Given the description of an element on the screen output the (x, y) to click on. 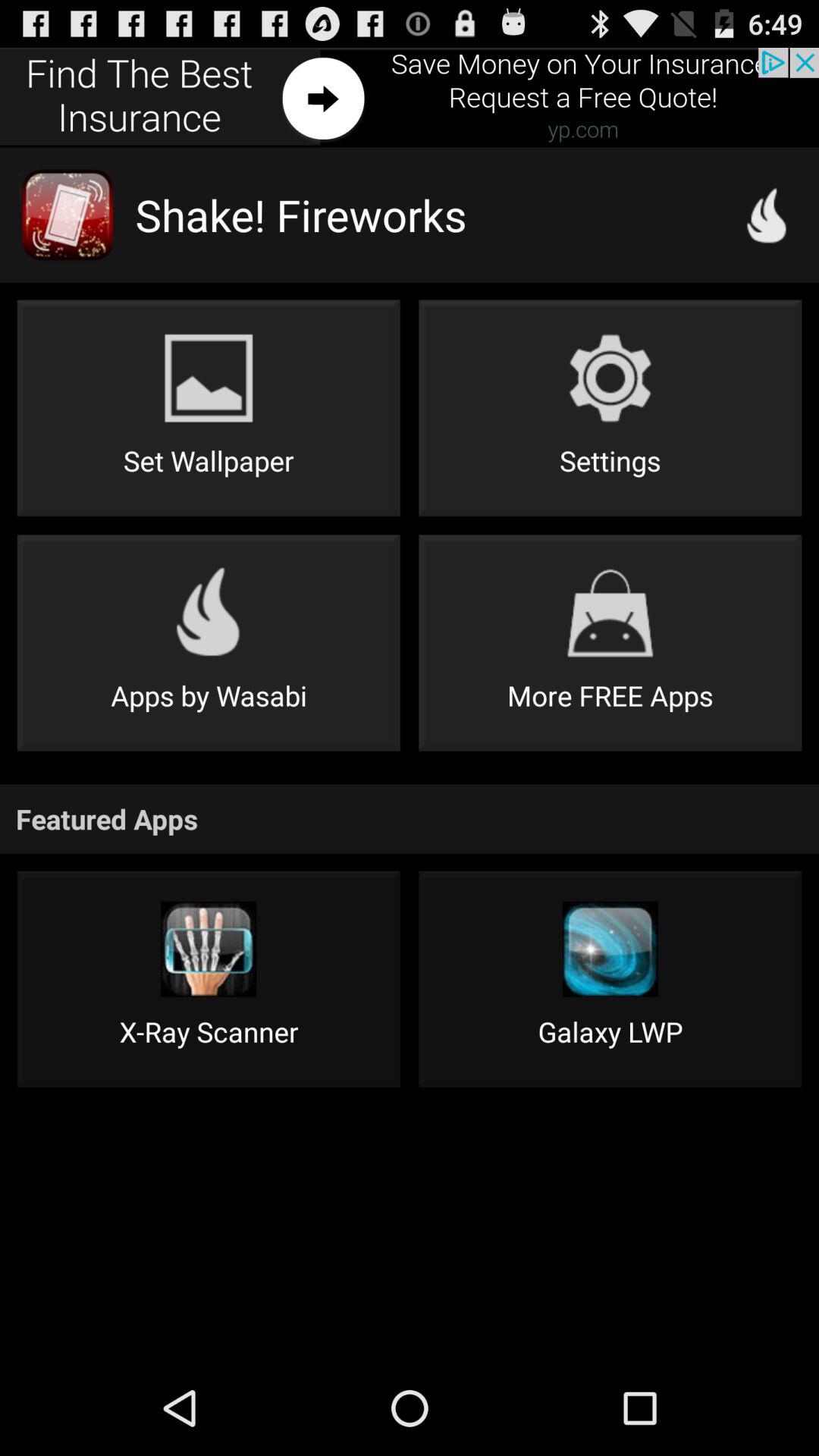
slide (409, 97)
